Given the description of an element on the screen output the (x, y) to click on. 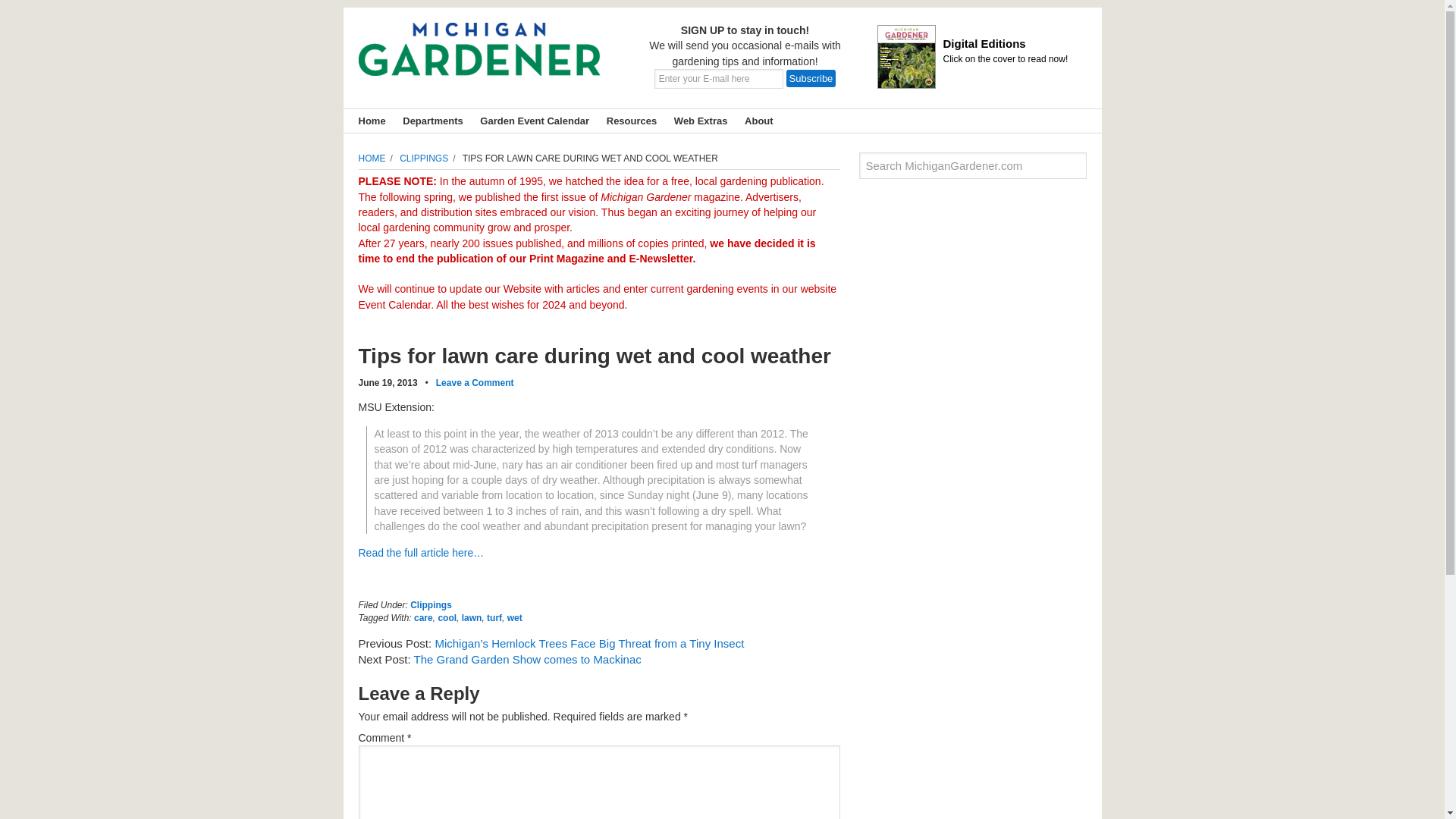
cool (447, 617)
Clippings (430, 604)
Leave a Comment (474, 382)
Michigan Gardener (478, 60)
care (422, 617)
Departments (428, 120)
HOME (377, 158)
CLIPPINGS (429, 158)
Resources (627, 120)
Home (367, 120)
